Given the description of an element on the screen output the (x, y) to click on. 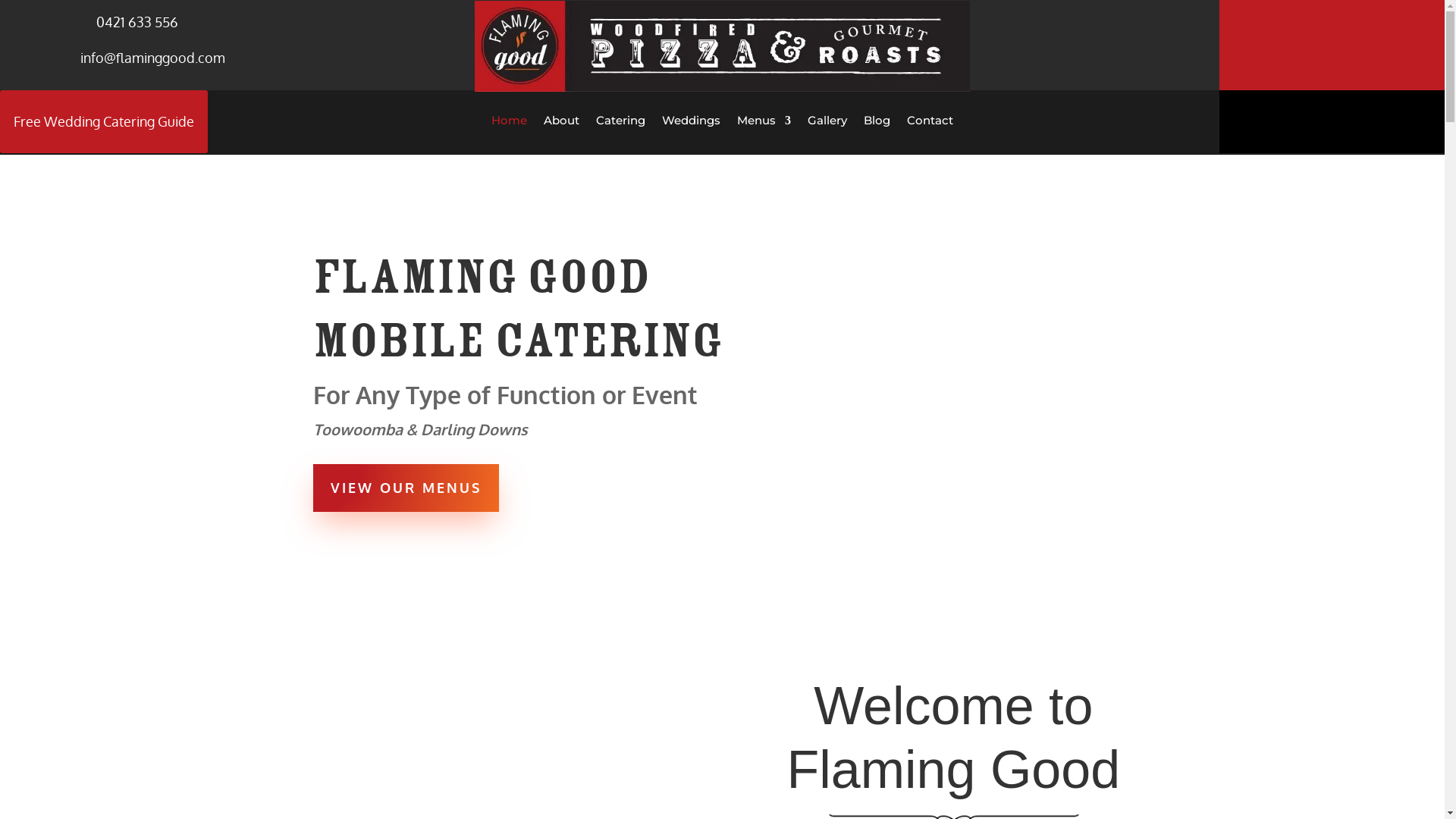
Weddings Element type: text (691, 123)
Free Wedding Catering Guide Element type: text (103, 121)
Catering Element type: text (620, 123)
Menus Element type: text (763, 123)
Blog Element type: text (876, 123)
info@flaminggood.com Element type: text (152, 57)
VIEW OUR MENUS Element type: text (405, 487)
About Element type: text (561, 123)
Contact Element type: text (929, 123)
Home Element type: text (509, 123)
0421 633 556 Element type: text (137, 21)
Gallery Element type: text (827, 123)
